Given the description of an element on the screen output the (x, y) to click on. 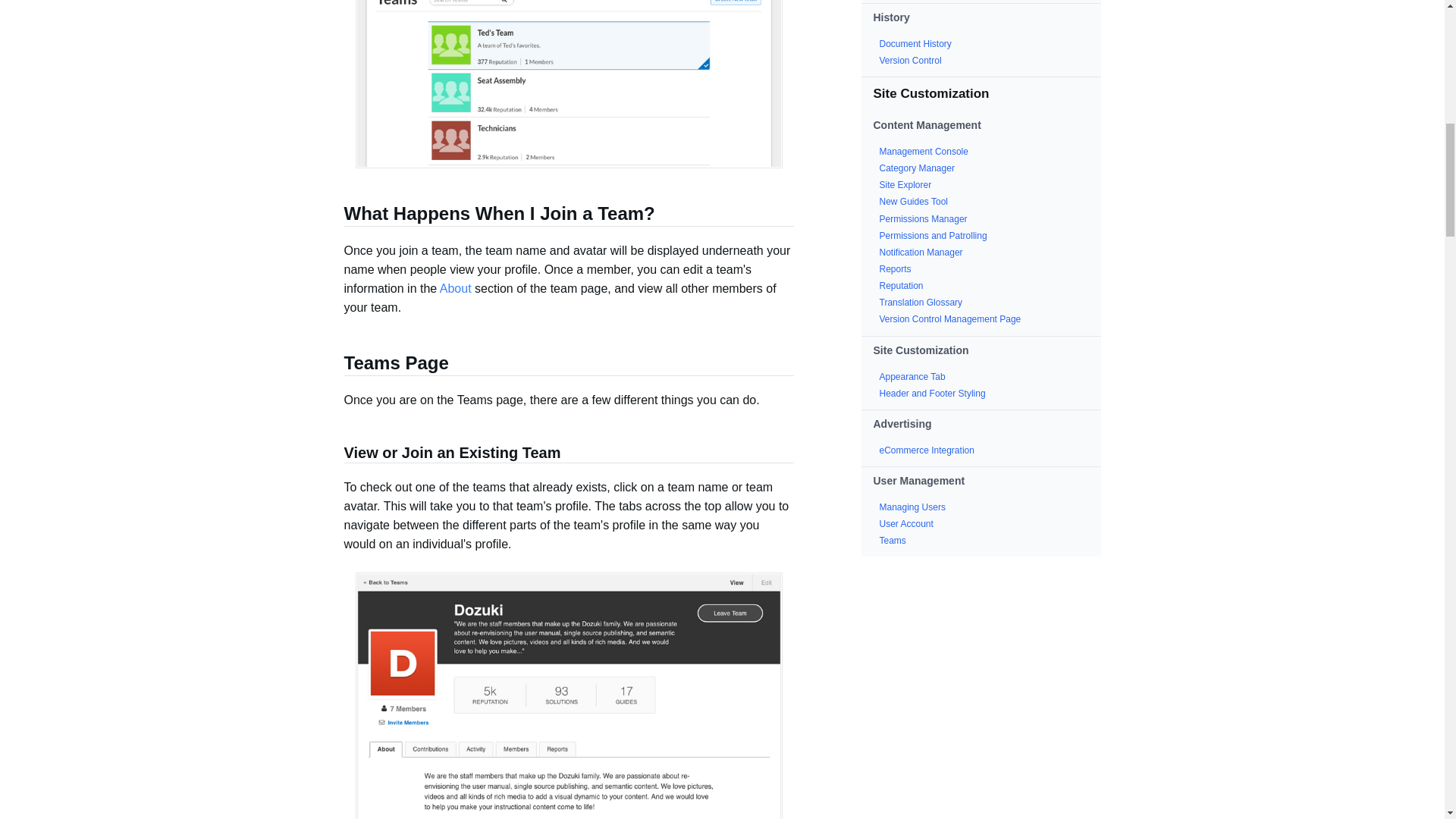
New Guides Tool (914, 201)
Link to this section (336, 216)
Notification Manager (920, 252)
Permissions Manager (923, 218)
Permissions and Patrolling (933, 235)
Management Console (923, 151)
Category Manager (917, 167)
Document History (915, 43)
Link to this section (336, 364)
Reputation (901, 285)
Link to this section (336, 453)
Site Explorer (905, 184)
Reports (895, 268)
Version Control (910, 60)
